Given the description of an element on the screen output the (x, y) to click on. 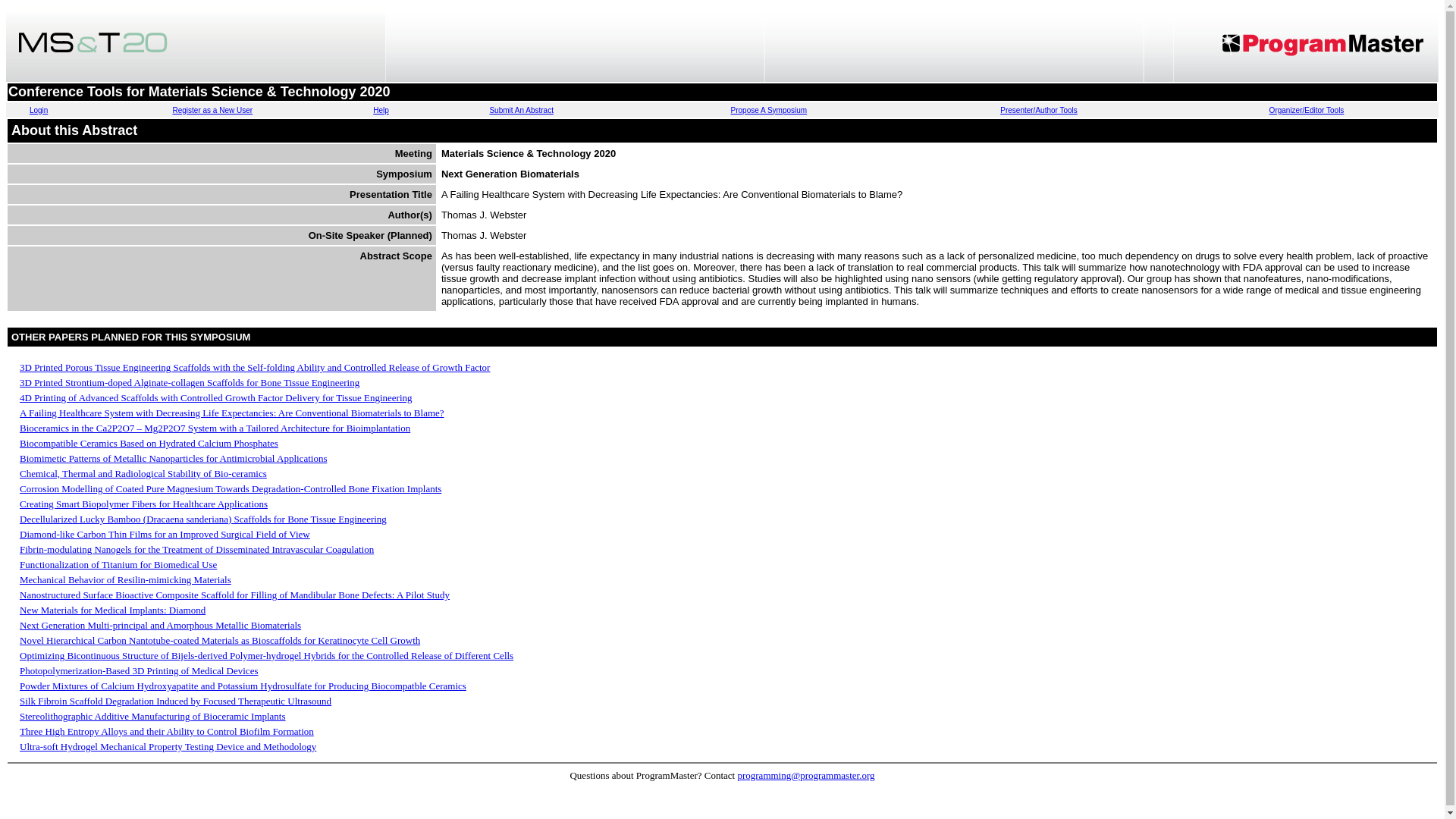
Biocompatible Ceramics Based on Hydrated Calcium Phosphates (149, 442)
